Given the description of an element on the screen output the (x, y) to click on. 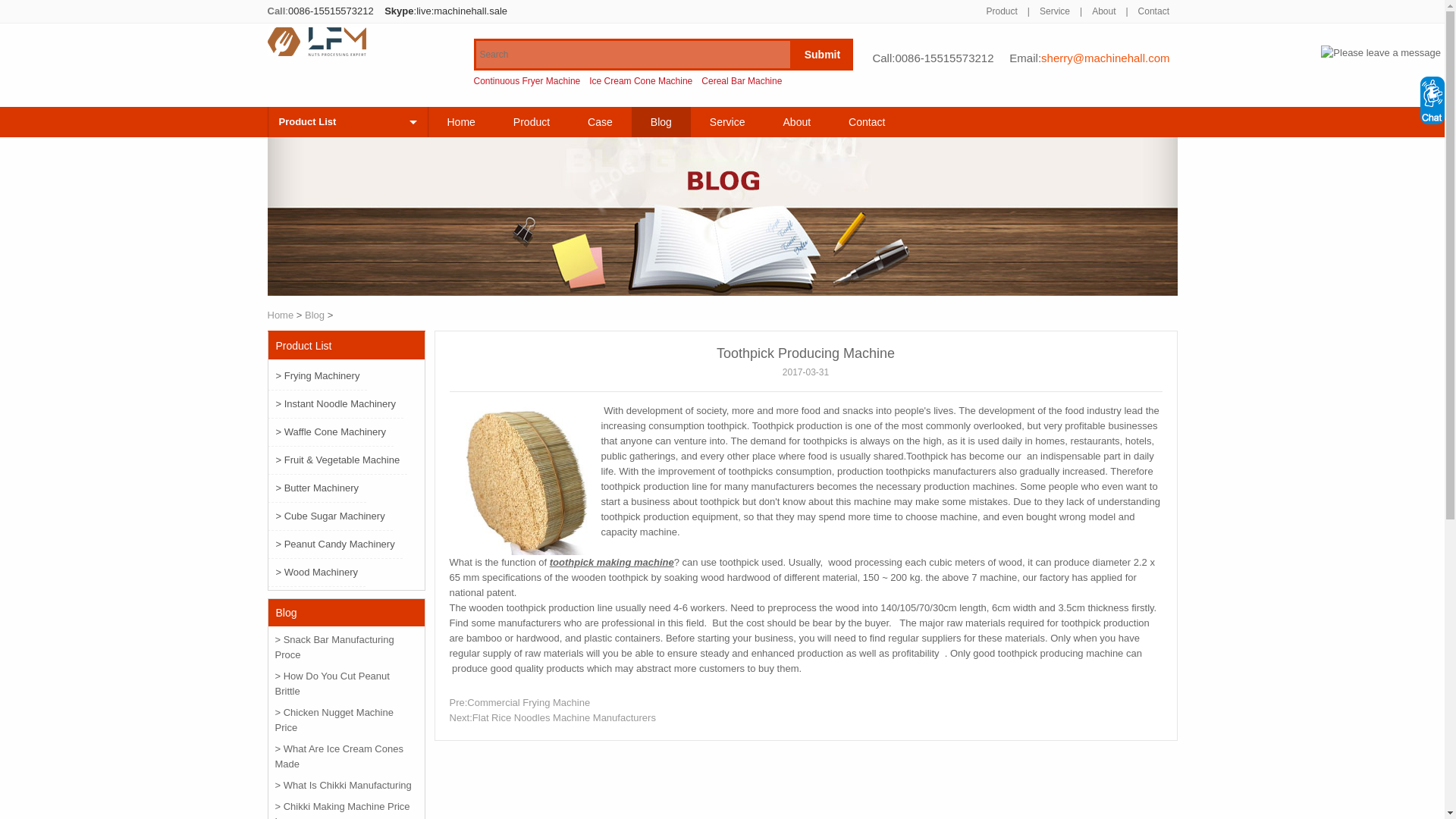
Skype:live:machinehall.sale (445, 10)
0086-15515573212 (943, 57)
Submit (821, 53)
About (1103, 10)
0086-15515573212 (331, 10)
Phone (331, 10)
Ice Cream Cone Machine (641, 81)
Cereal Bar Machine (741, 81)
Contact (1153, 10)
LONGER Company - Food Processing Machine Manufacturer (315, 52)
